Given the description of an element on the screen output the (x, y) to click on. 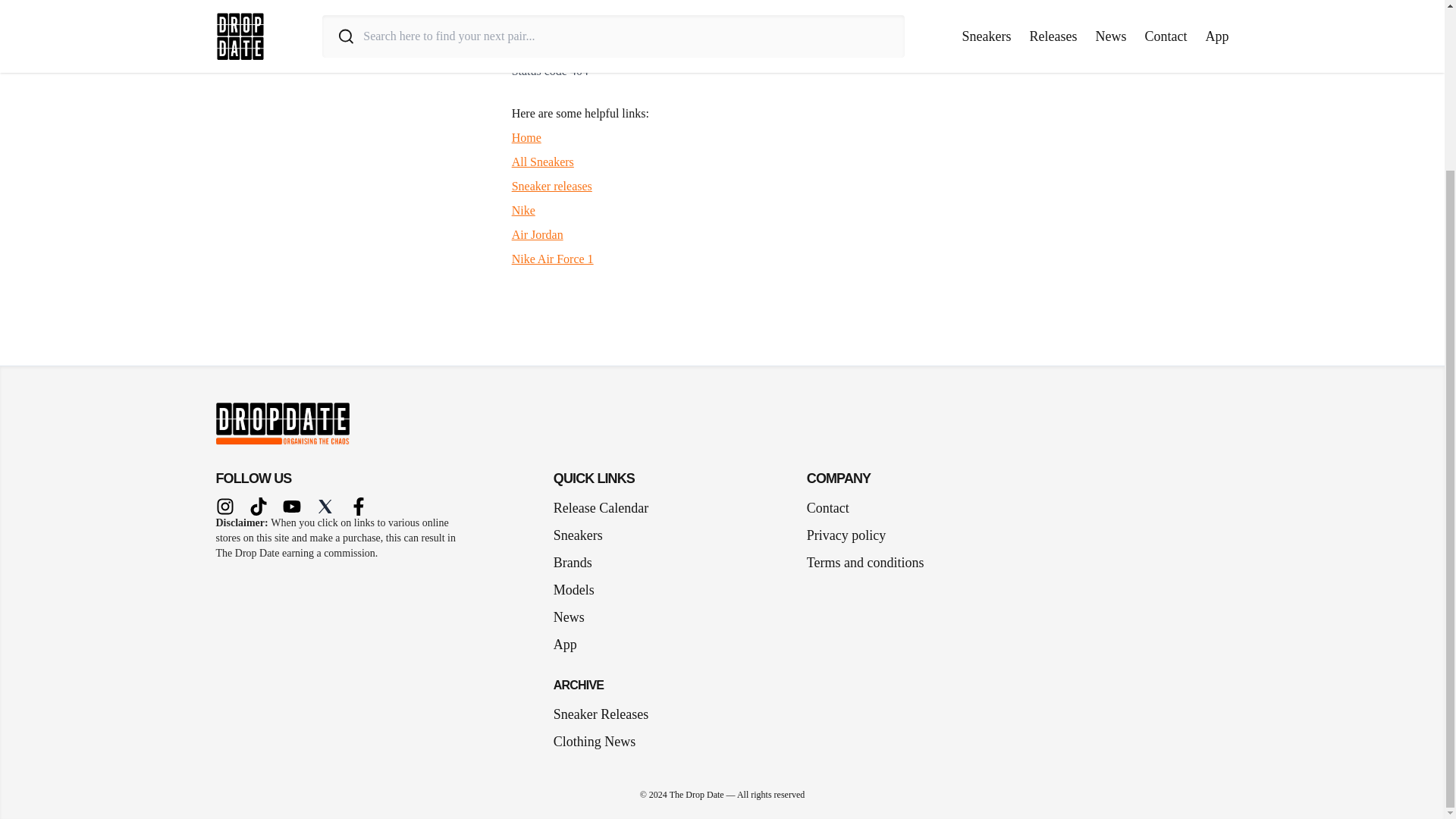
Privacy policy (845, 535)
Sneaker releases (552, 185)
News (574, 617)
Contact (827, 507)
All Sneakers (542, 161)
Nike Air Force 1 (553, 258)
Sneakers (583, 535)
Sneaker Releases (600, 713)
Clothing News (594, 741)
Terms and conditions (865, 562)
